Given the description of an element on the screen output the (x, y) to click on. 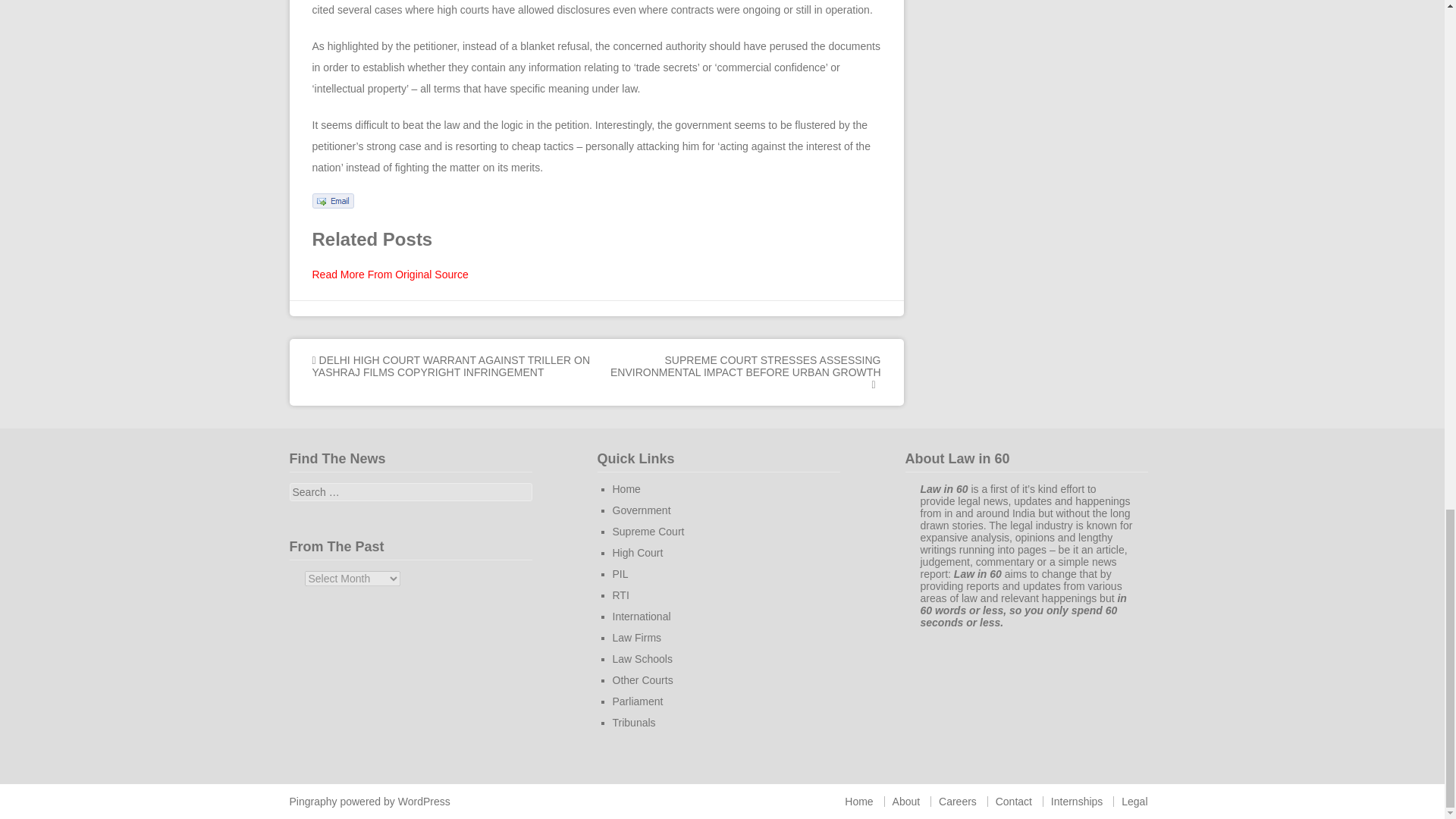
Government (641, 510)
International (641, 616)
Supreme Court (648, 531)
High Court (637, 552)
Read More (390, 274)
RTI (620, 594)
Send this article to a friend! (333, 204)
Home (626, 489)
PIL (620, 573)
